Given the description of an element on the screen output the (x, y) to click on. 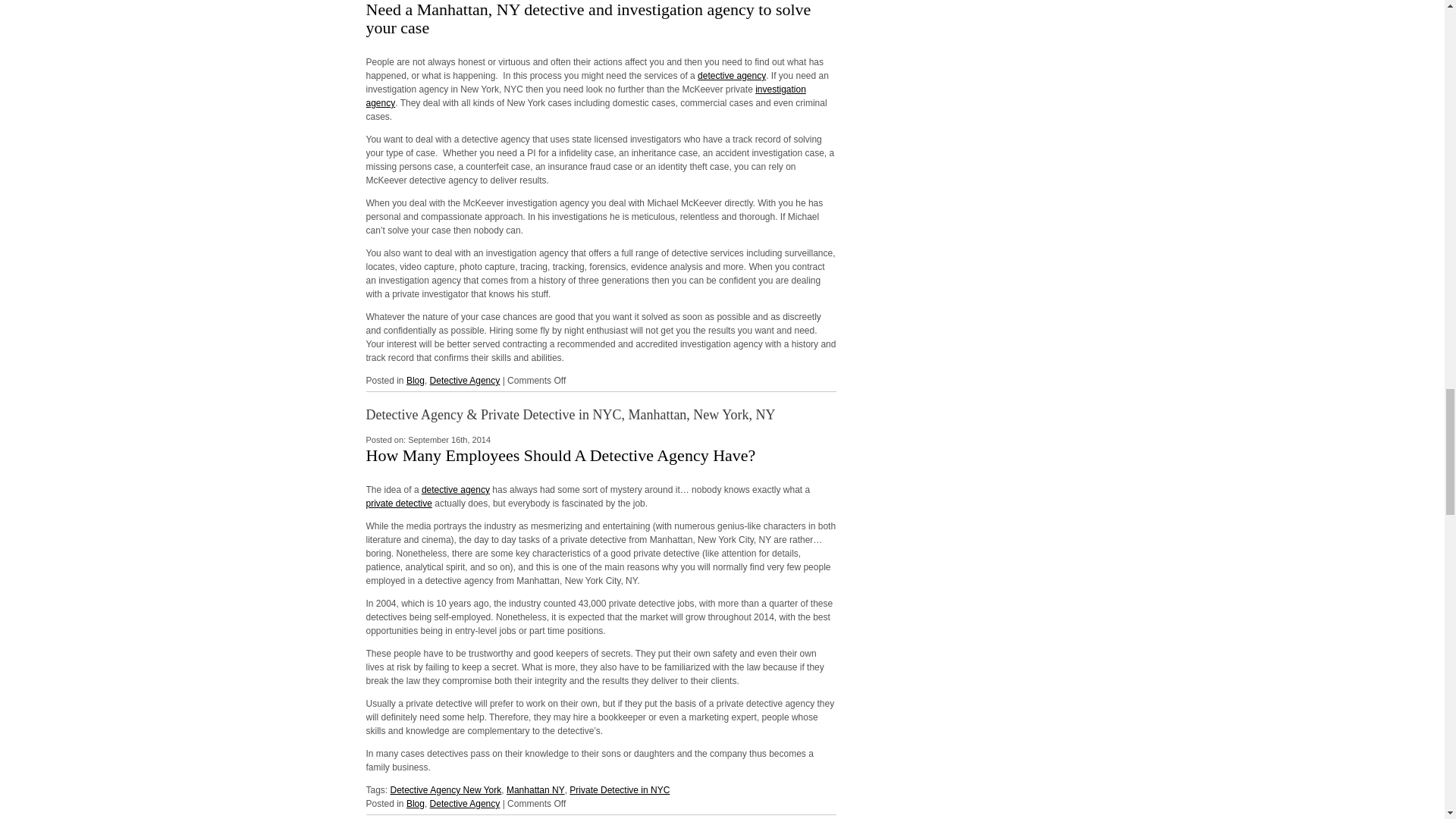
Blog (415, 380)
Blog (415, 803)
Detective Agency (464, 803)
investigation agency (585, 96)
detective agency (455, 489)
Detective Agency (464, 380)
Manhattan NY (535, 789)
Private Detective in NYC (619, 789)
Private Detective Manhattan (397, 502)
Detective Agency New York (446, 789)
